Given the description of an element on the screen output the (x, y) to click on. 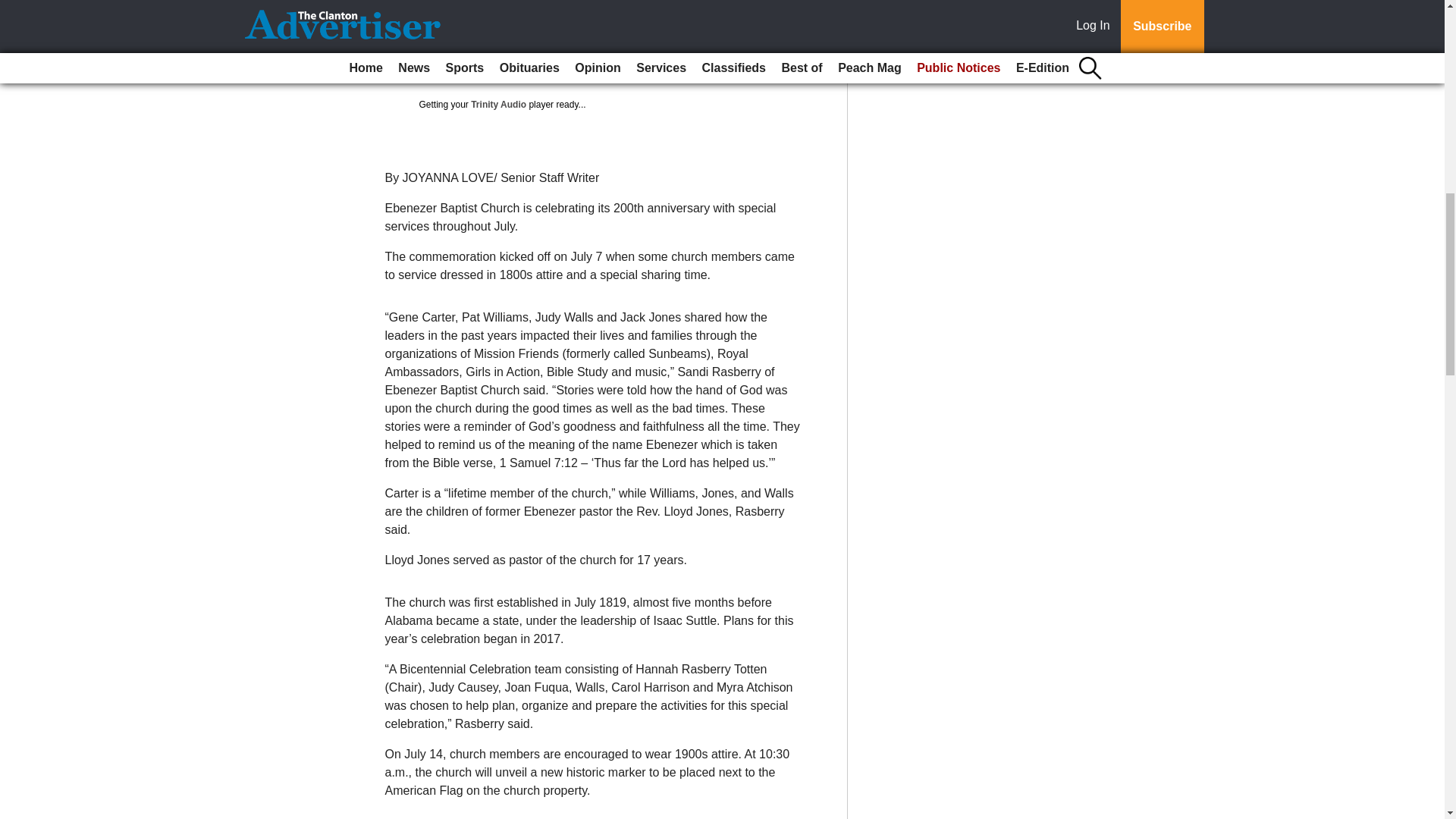
Trinity Audio (497, 104)
